Given the description of an element on the screen output the (x, y) to click on. 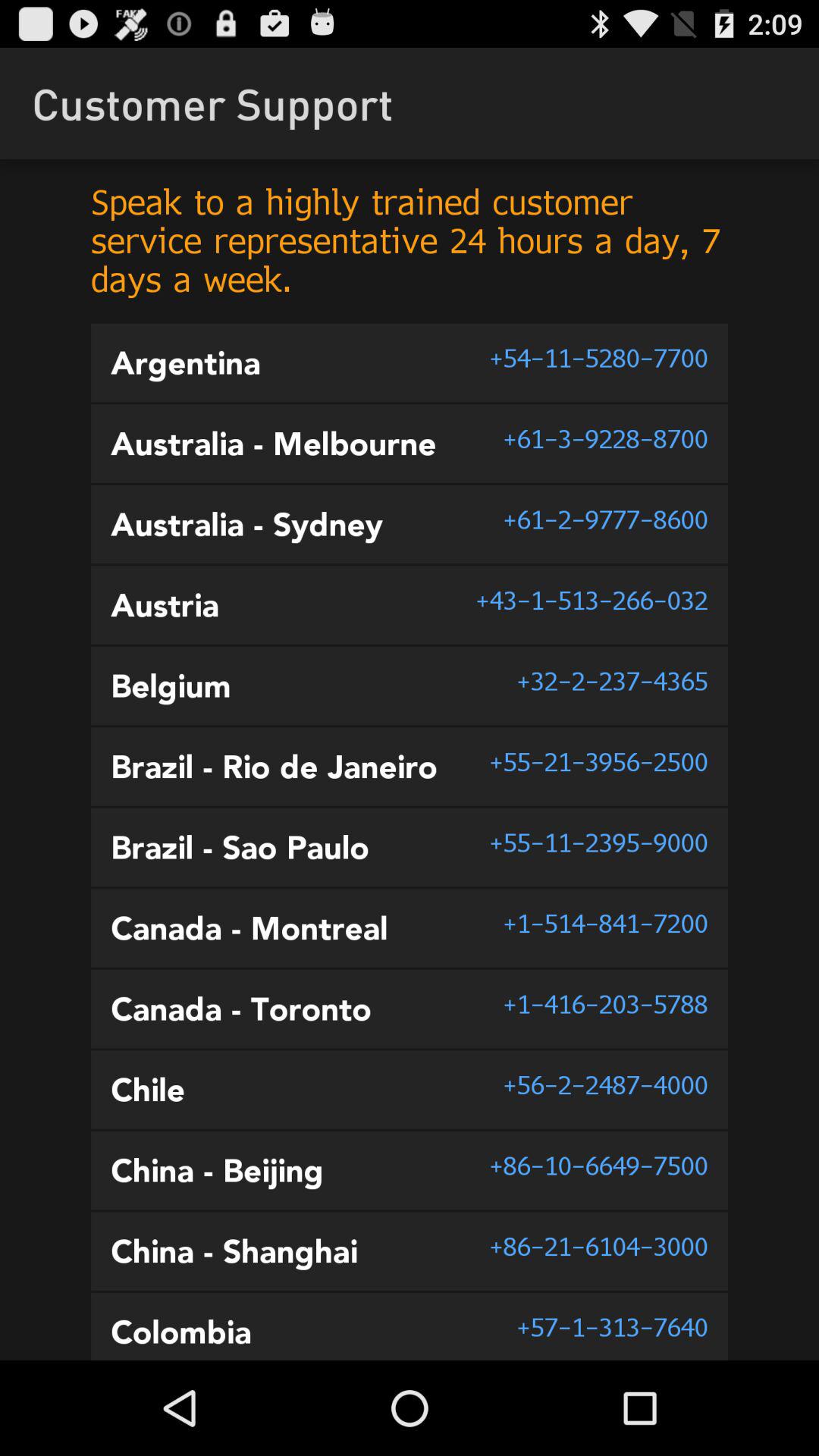
press the 32 2 237 (612, 680)
